Given the description of an element on the screen output the (x, y) to click on. 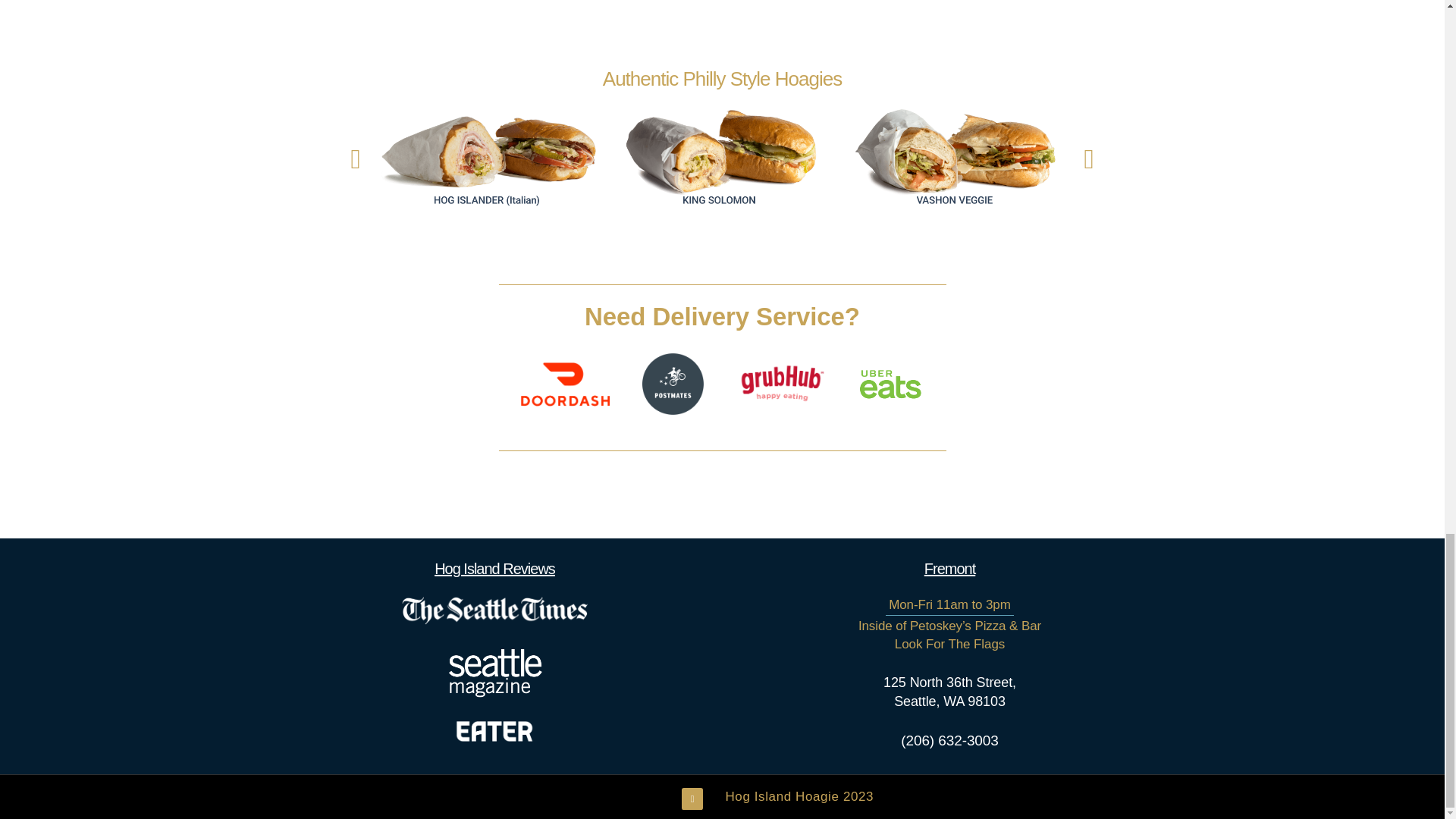
Hog Island Hoagie 2023 (799, 796)
